Given the description of an element on the screen output the (x, y) to click on. 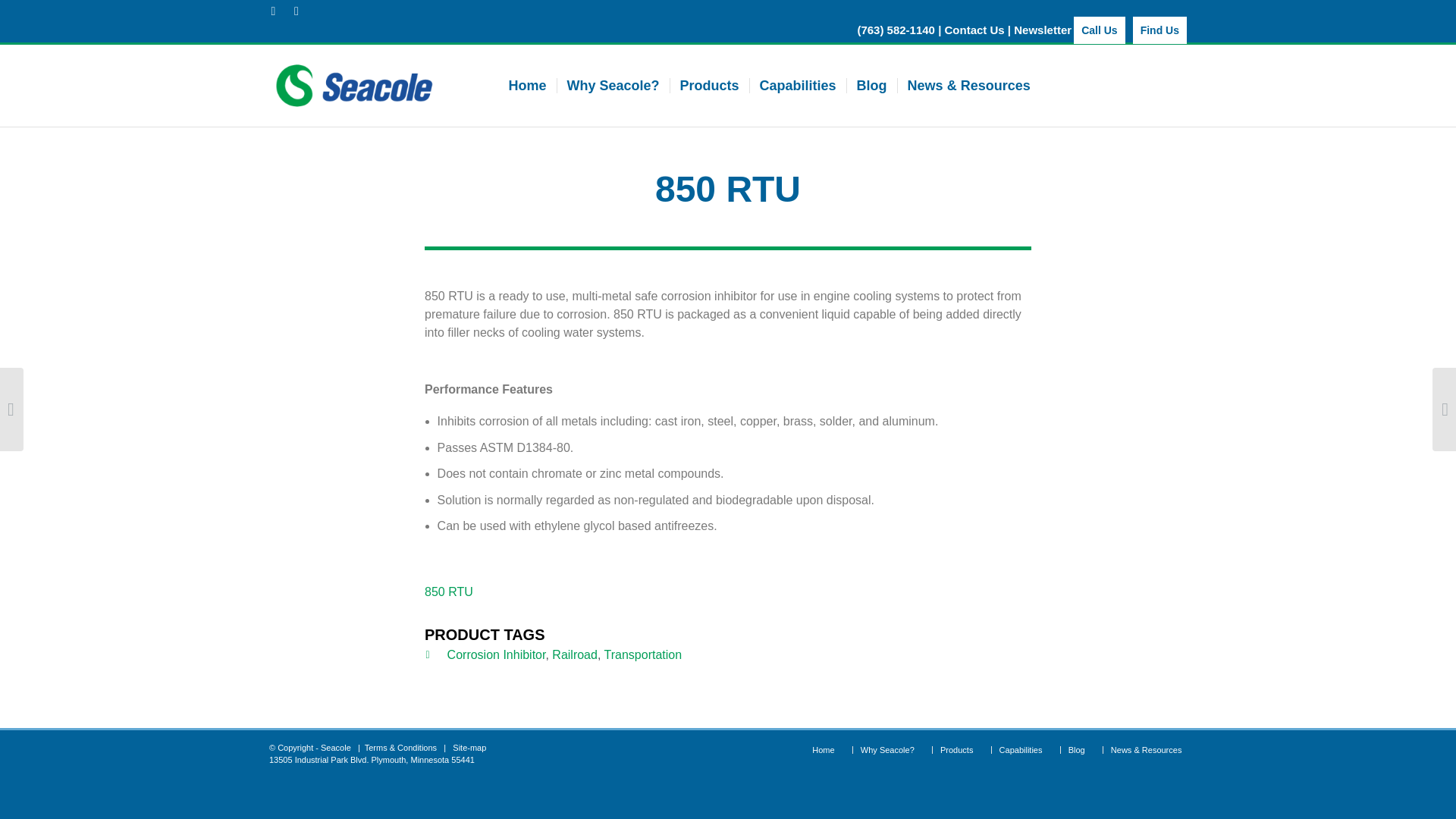
LinkedIn (296, 11)
Contact Us (974, 29)
Why Seacole? (887, 749)
Newsletter (1042, 29)
Transportation (643, 654)
Call Us (1099, 30)
Capabilities (797, 85)
Blog (1076, 749)
Railroad (573, 654)
Products (956, 749)
Facebook (272, 11)
Why Seacole? (612, 85)
Capabilities (1020, 749)
Site-map (469, 747)
850 RTU (449, 591)
